Given the description of an element on the screen output the (x, y) to click on. 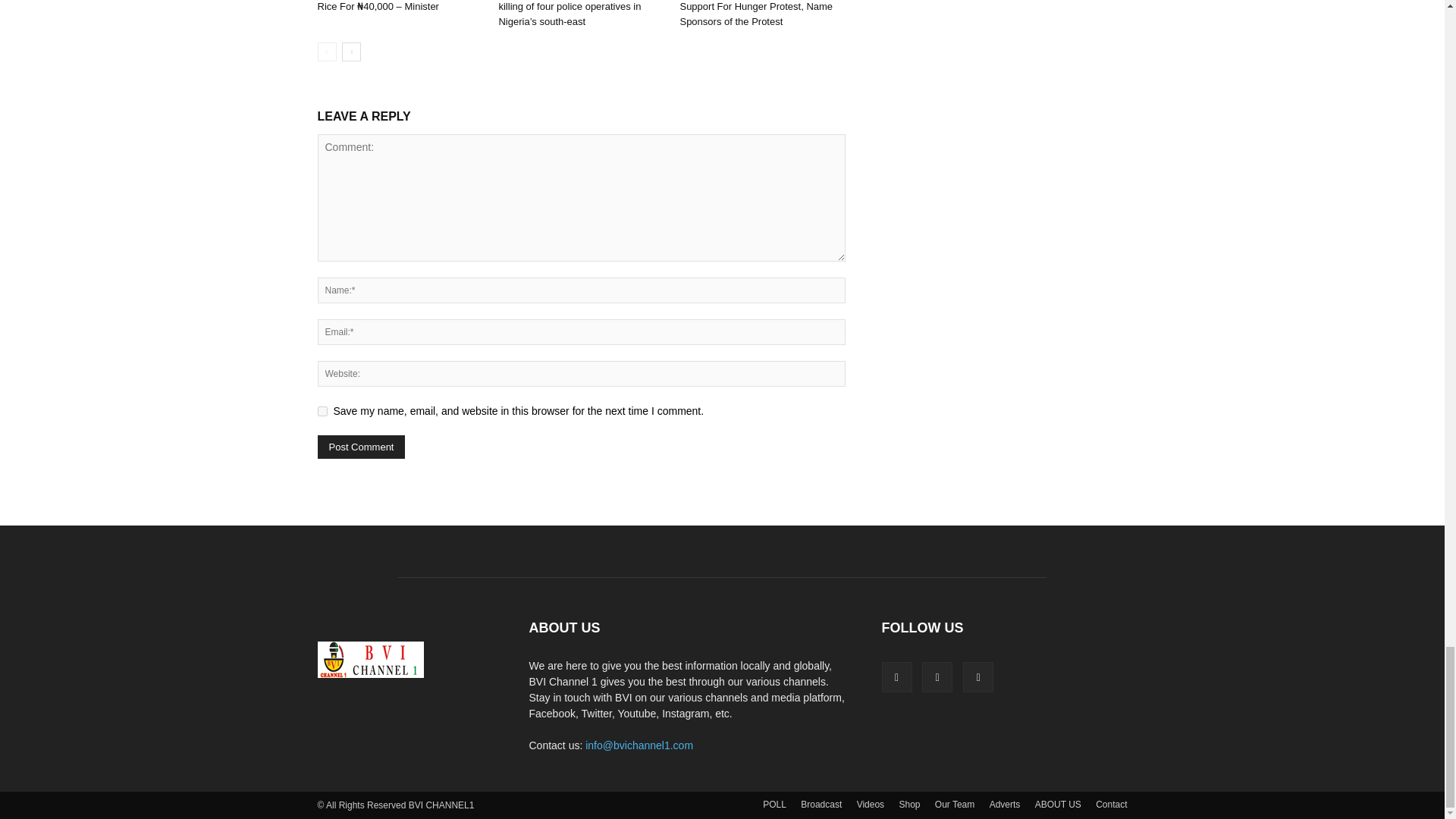
yes (321, 410)
Post Comment (360, 445)
